Given the description of an element on the screen output the (x, y) to click on. 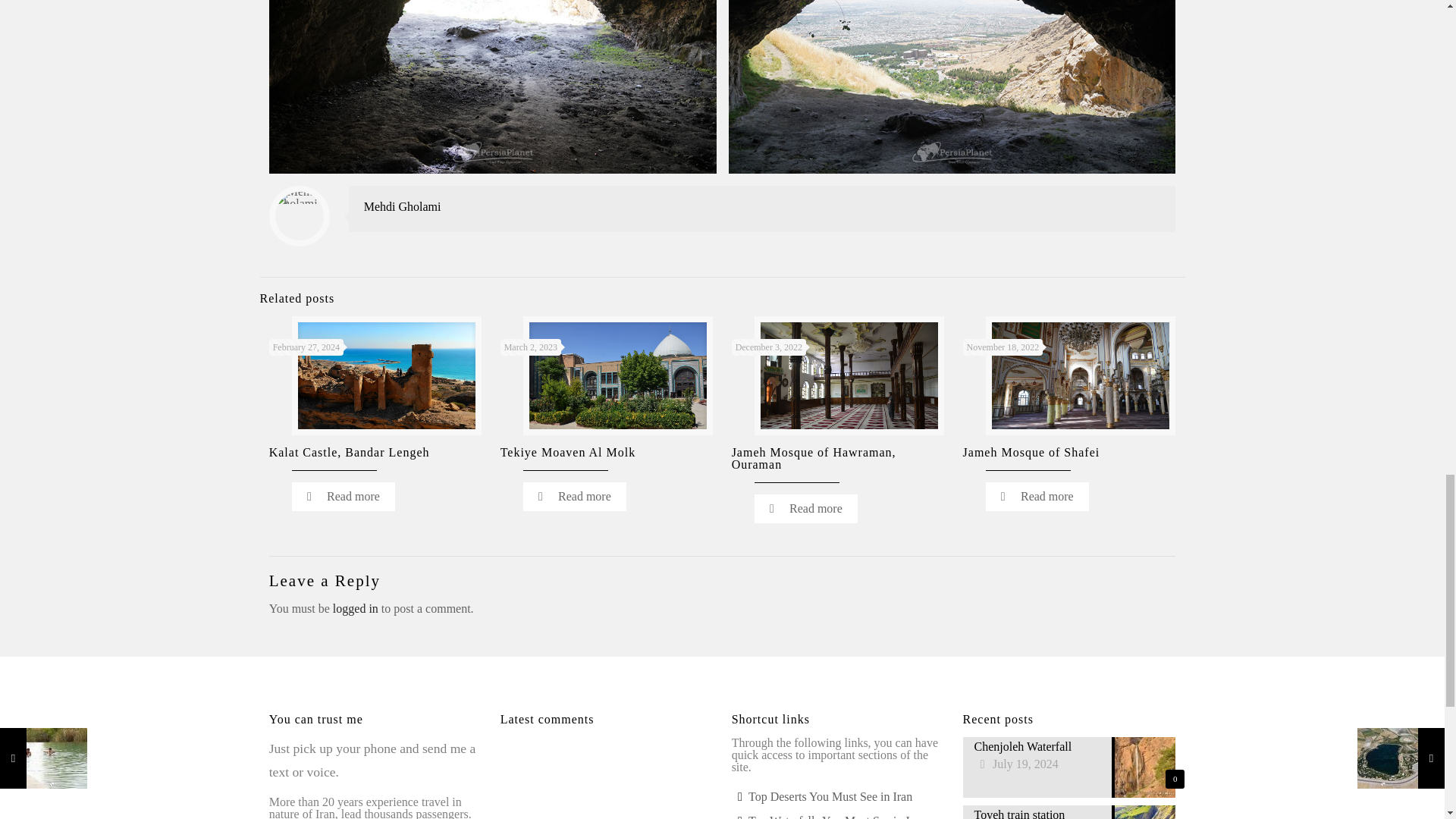
Read more (1037, 496)
Mehdi Gholami (402, 205)
Read more (574, 496)
Kalat Castle, Bandar Lengeh (349, 451)
Read more (805, 508)
Tekiye Moaven Al Molk (568, 451)
Jameh Mosque of Shafei (1031, 451)
Jameh Mosque of Hawraman, Ouraman (814, 457)
Read more (343, 496)
